Given the description of an element on the screen output the (x, y) to click on. 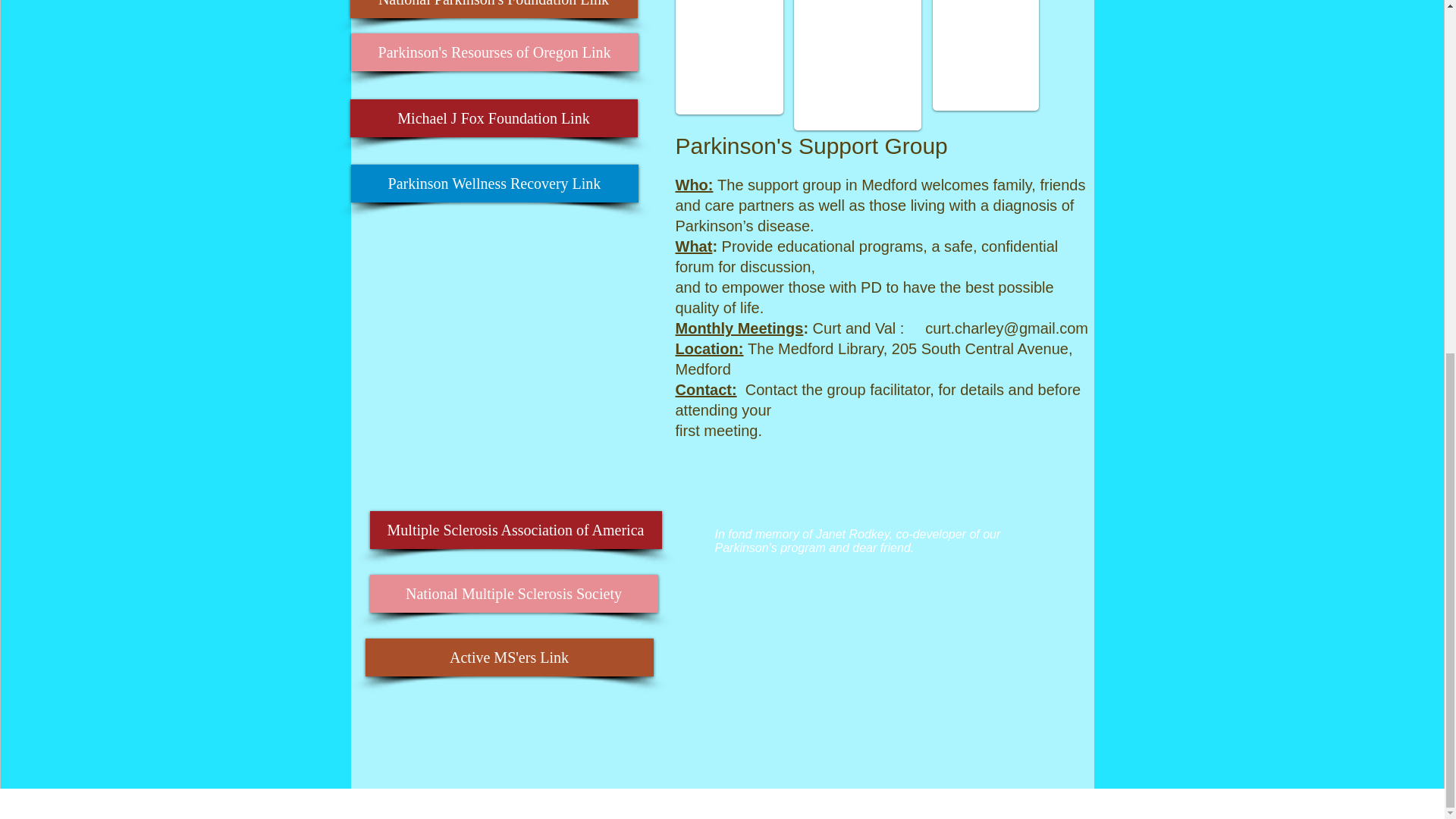
Active MS'ers Link (509, 657)
Parkinson Wellness Recovery Link (493, 183)
Michael J Fox Foundation Link (493, 118)
National Parkinson's Foundation Link (493, 9)
Parkinson's Resourses of Oregon Link (493, 52)
Multiple Sclerosis Association of America (515, 529)
National Multiple Sclerosis Society (513, 593)
